Given the description of an element on the screen output the (x, y) to click on. 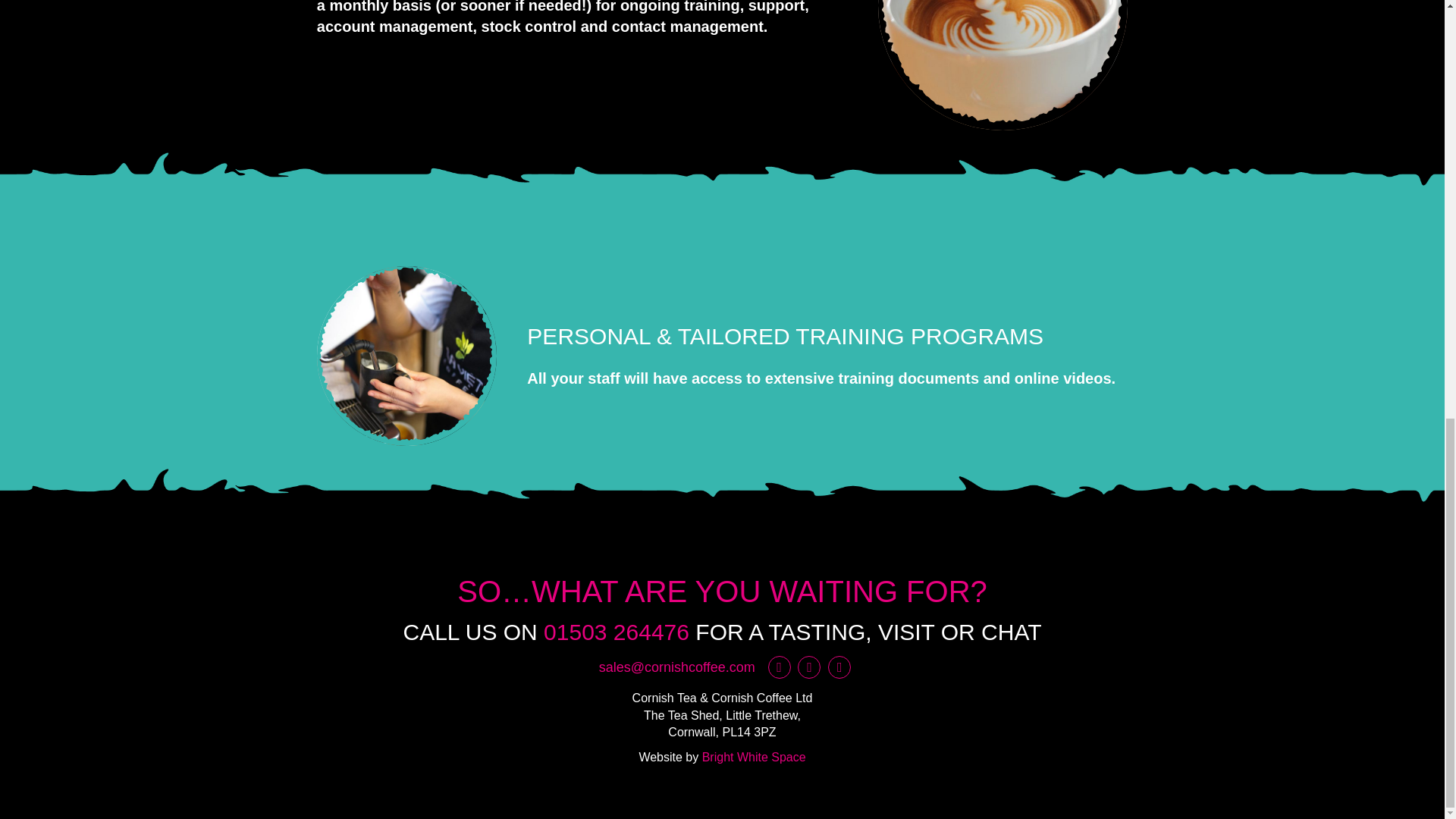
Page 10 (826, 378)
Bright White Space (753, 757)
Page 10 (826, 356)
Page 10 (582, 18)
01503 264476 (615, 631)
